Given the description of an element on the screen output the (x, y) to click on. 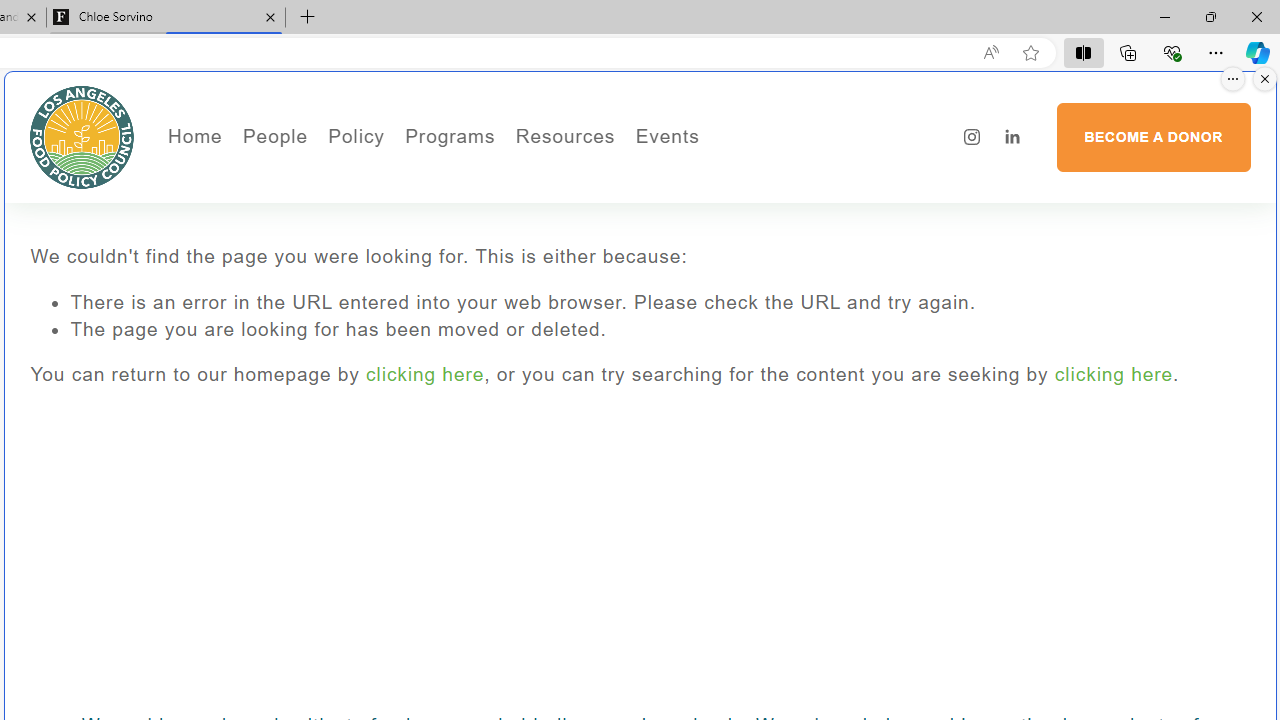
Blog (341, 261)
Chloe Sorvino (166, 17)
Good Food Zones (643, 176)
Reports (341, 290)
Publications (468, 205)
Events (734, 176)
Cultivating Farmers (504, 232)
Press (341, 232)
Food Leaders Lab (468, 232)
